Given the description of an element on the screen output the (x, y) to click on. 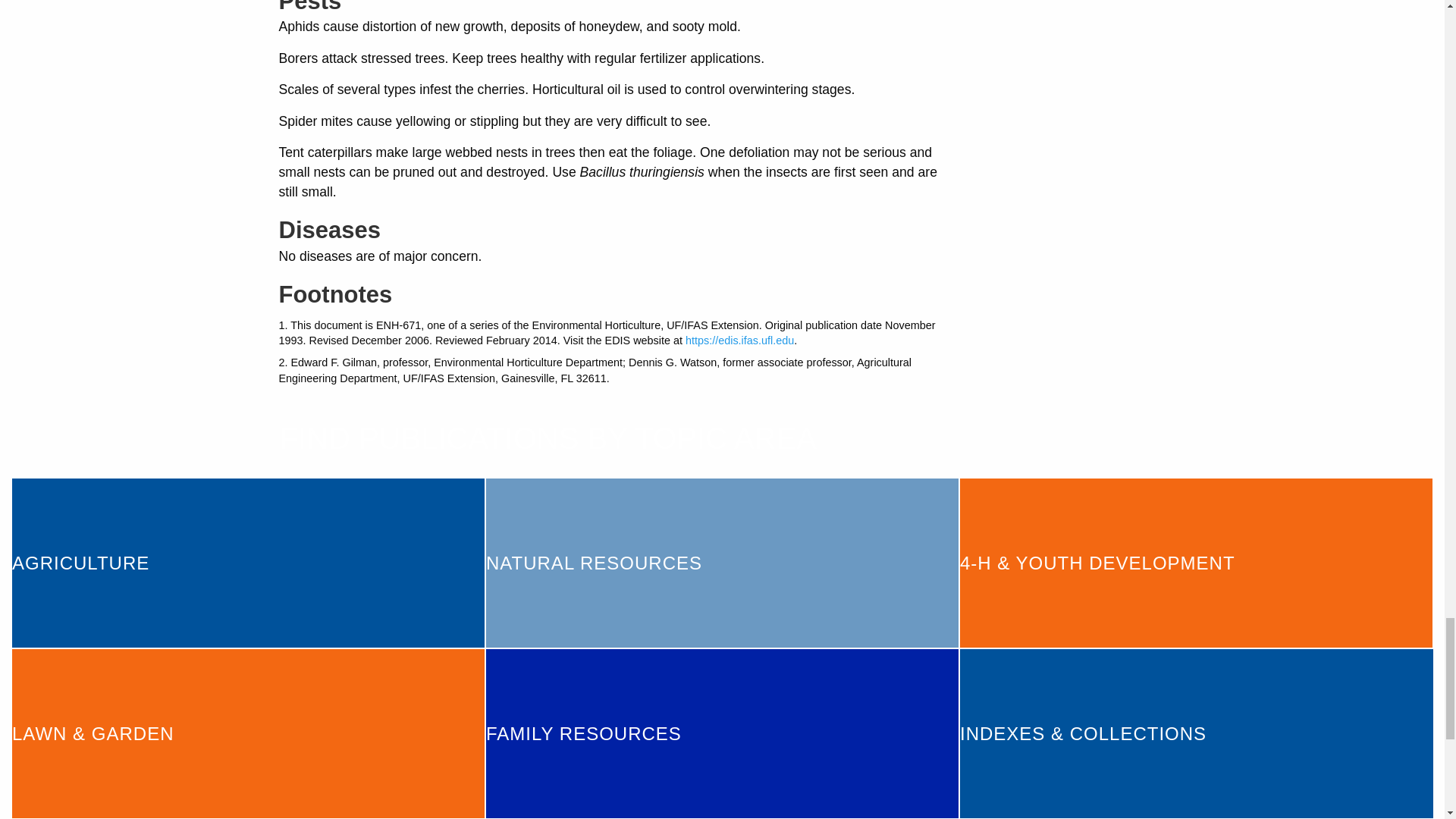
NATURAL RESOURCES (722, 562)
AGRICULTURE (247, 562)
FAMILY RESOURCES (722, 733)
